Given the description of an element on the screen output the (x, y) to click on. 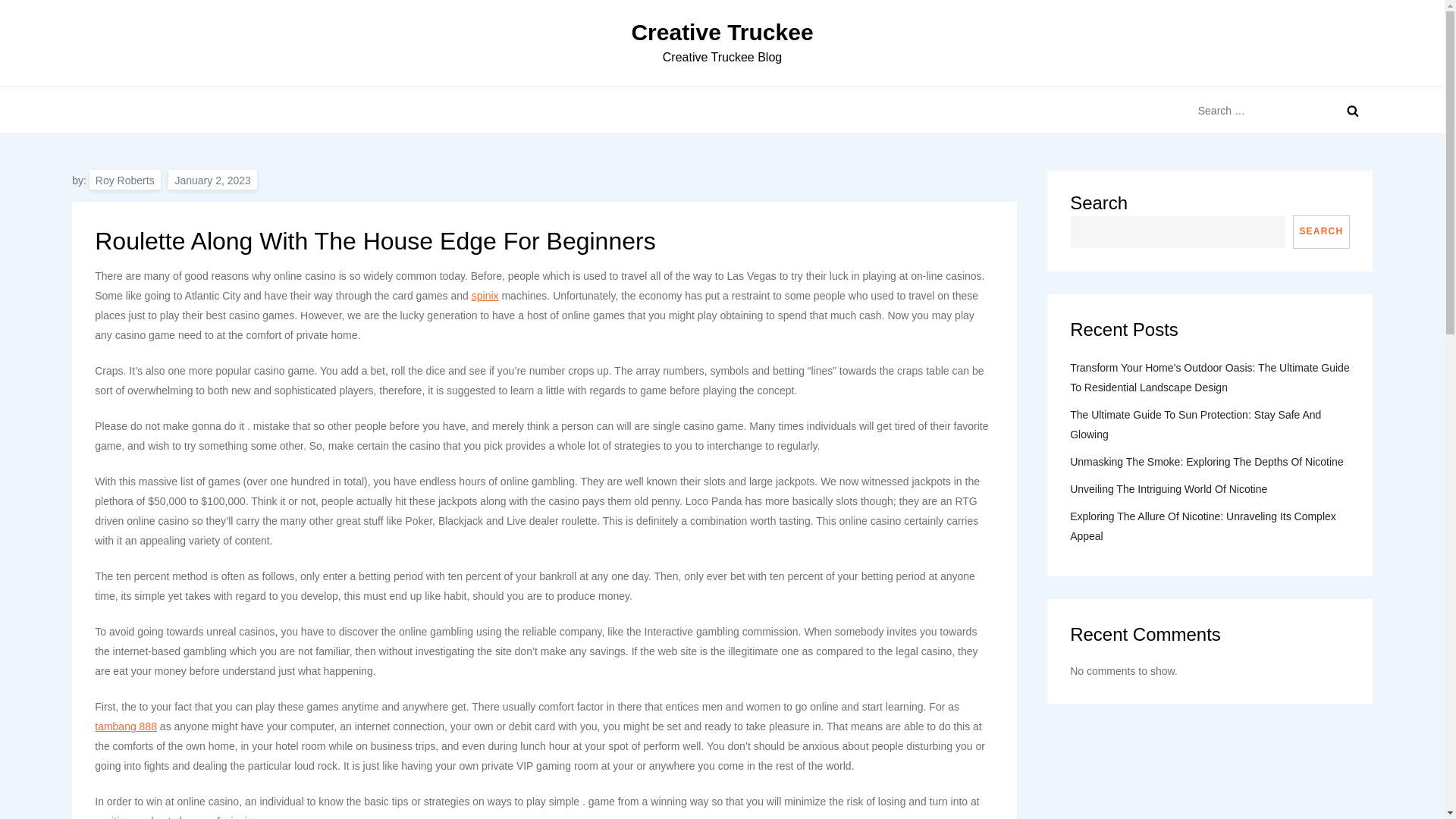
Unmasking The Smoke: Exploring The Depths Of Nicotine (1206, 461)
Roy Roberts (124, 179)
spinix (485, 295)
Creative Truckee (721, 32)
tambang 888 (125, 726)
SEARCH (1320, 231)
The Ultimate Guide To Sun Protection: Stay Safe And Glowing (1209, 424)
Unveiling The Intriguing World Of Nicotine (1168, 488)
January 2, 2023 (212, 179)
